Given the description of an element on the screen output the (x, y) to click on. 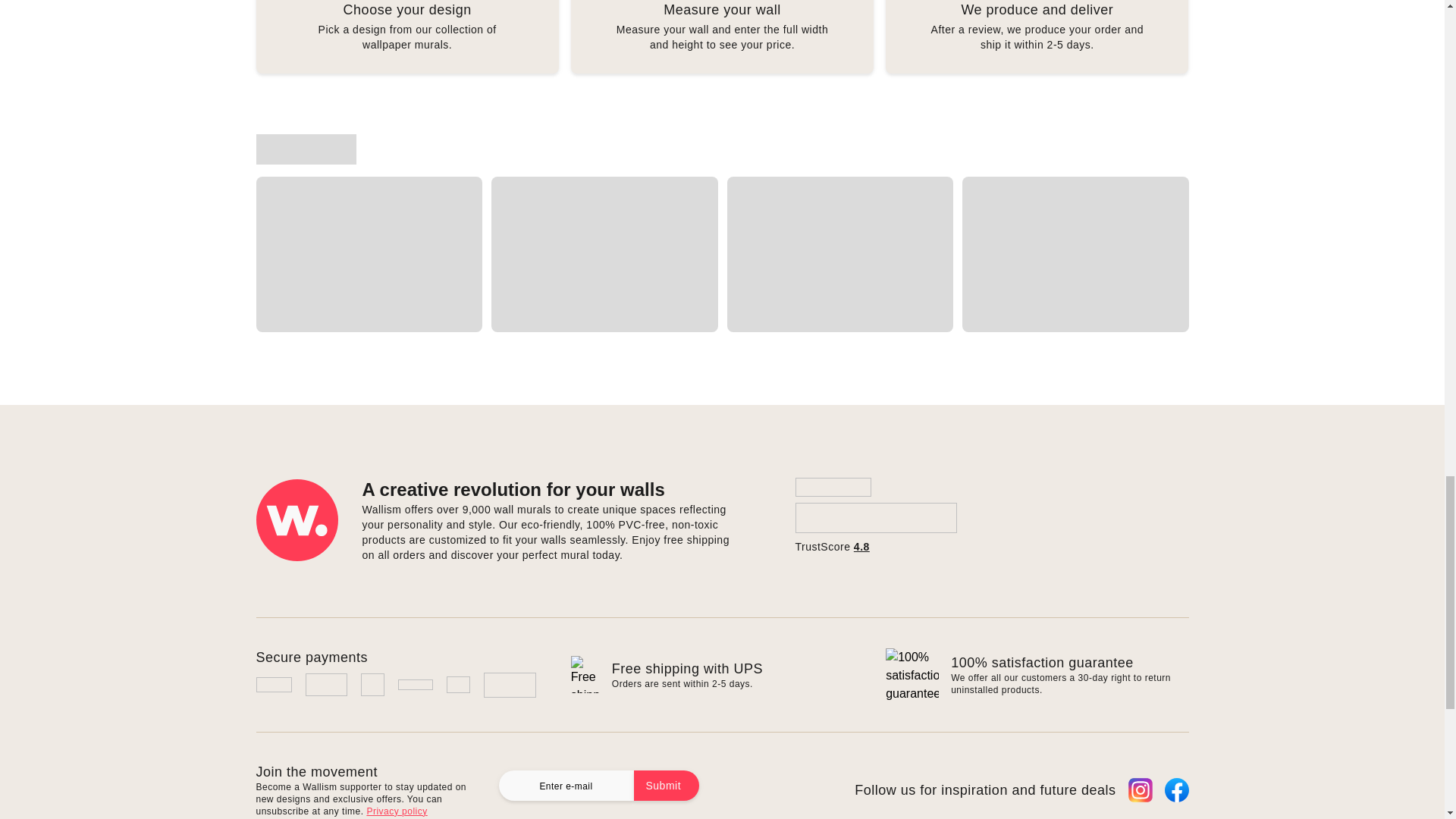
Submit (666, 785)
TrustScore 4.8 (875, 515)
Privacy policy (396, 810)
